Given the description of an element on the screen output the (x, y) to click on. 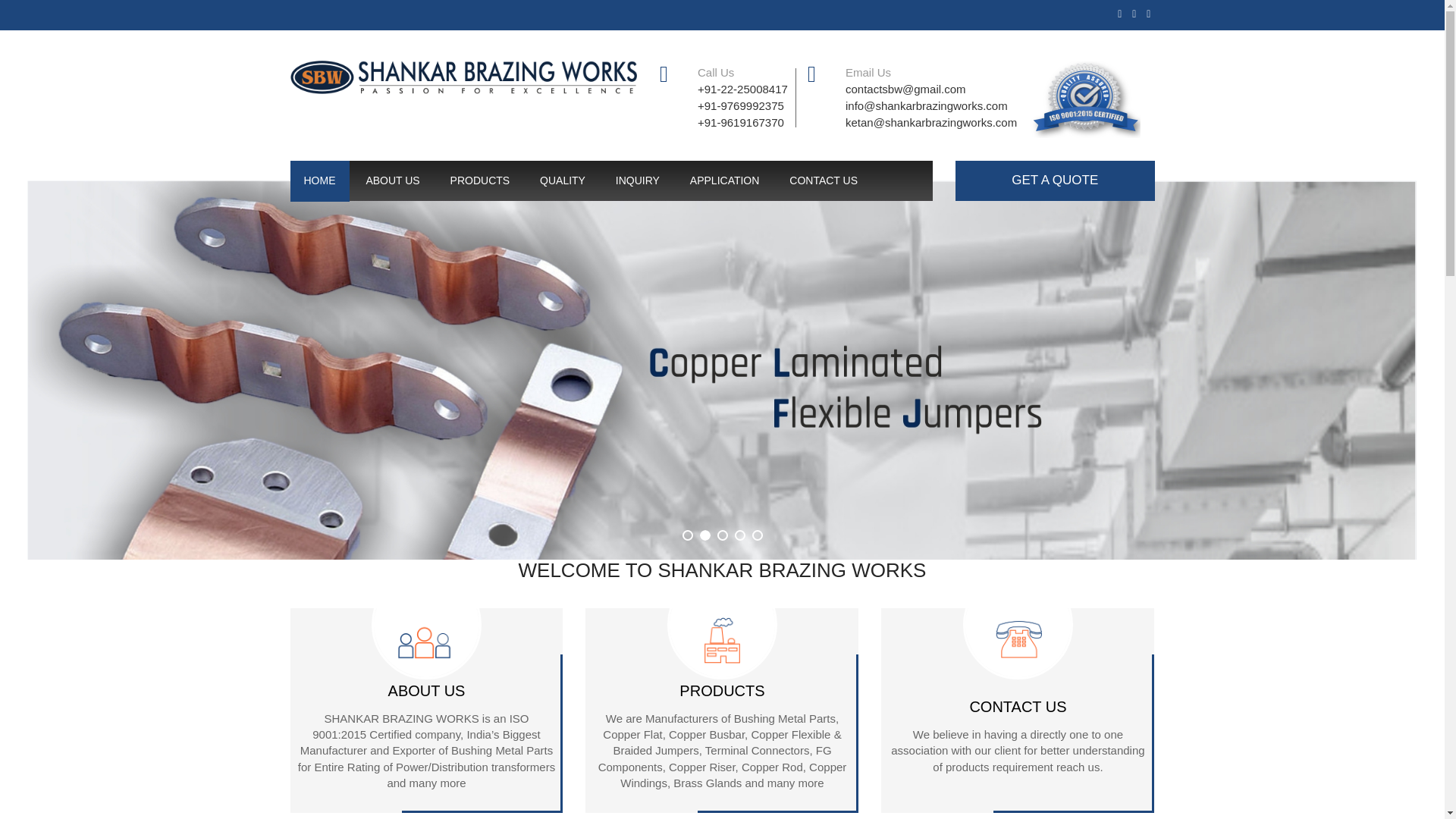
GET A QUOTE (1054, 180)
